Given the description of an element on the screen output the (x, y) to click on. 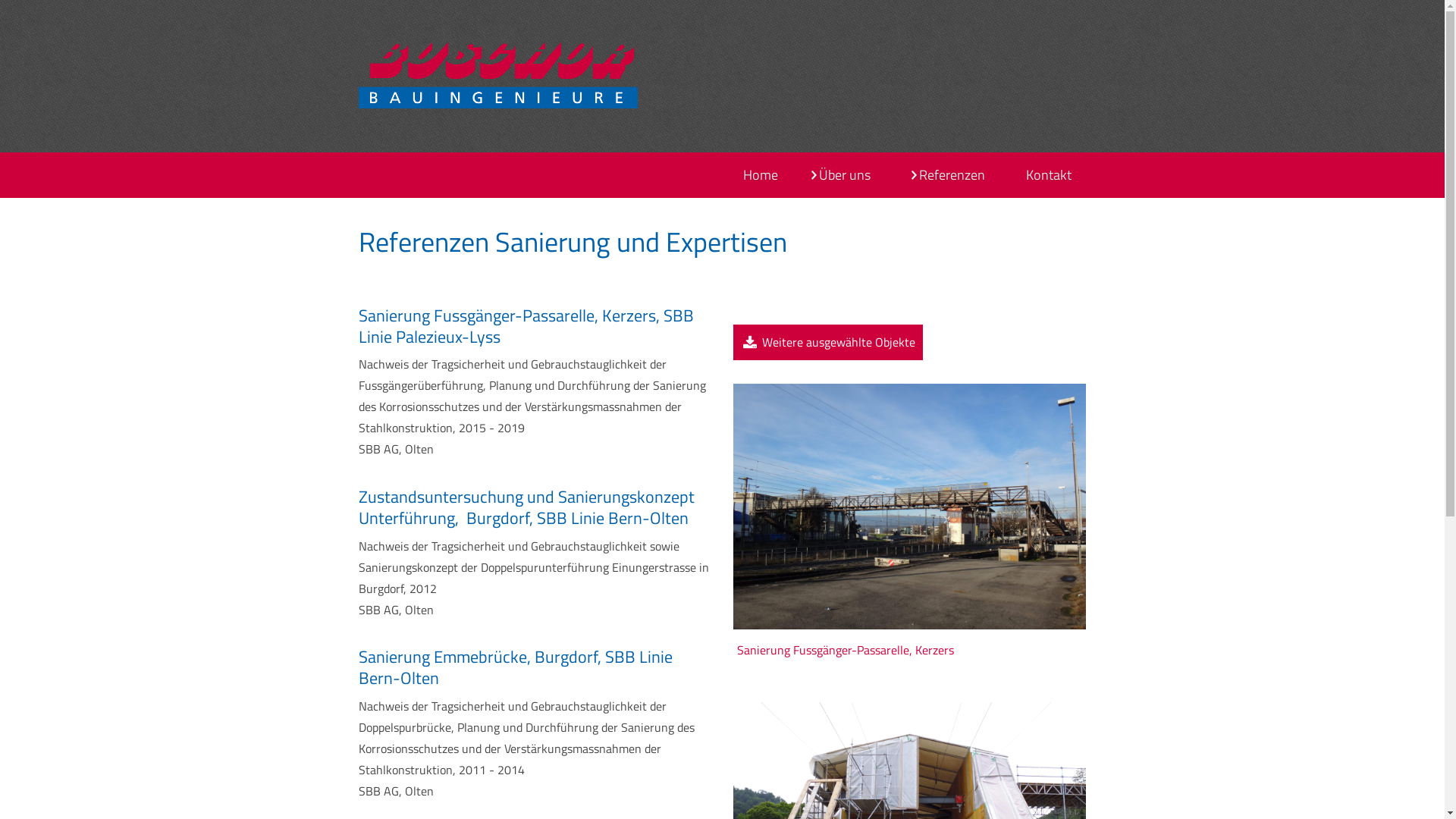
Kontakt Element type: text (1047, 174)
Home Element type: text (760, 174)
